Given the description of an element on the screen output the (x, y) to click on. 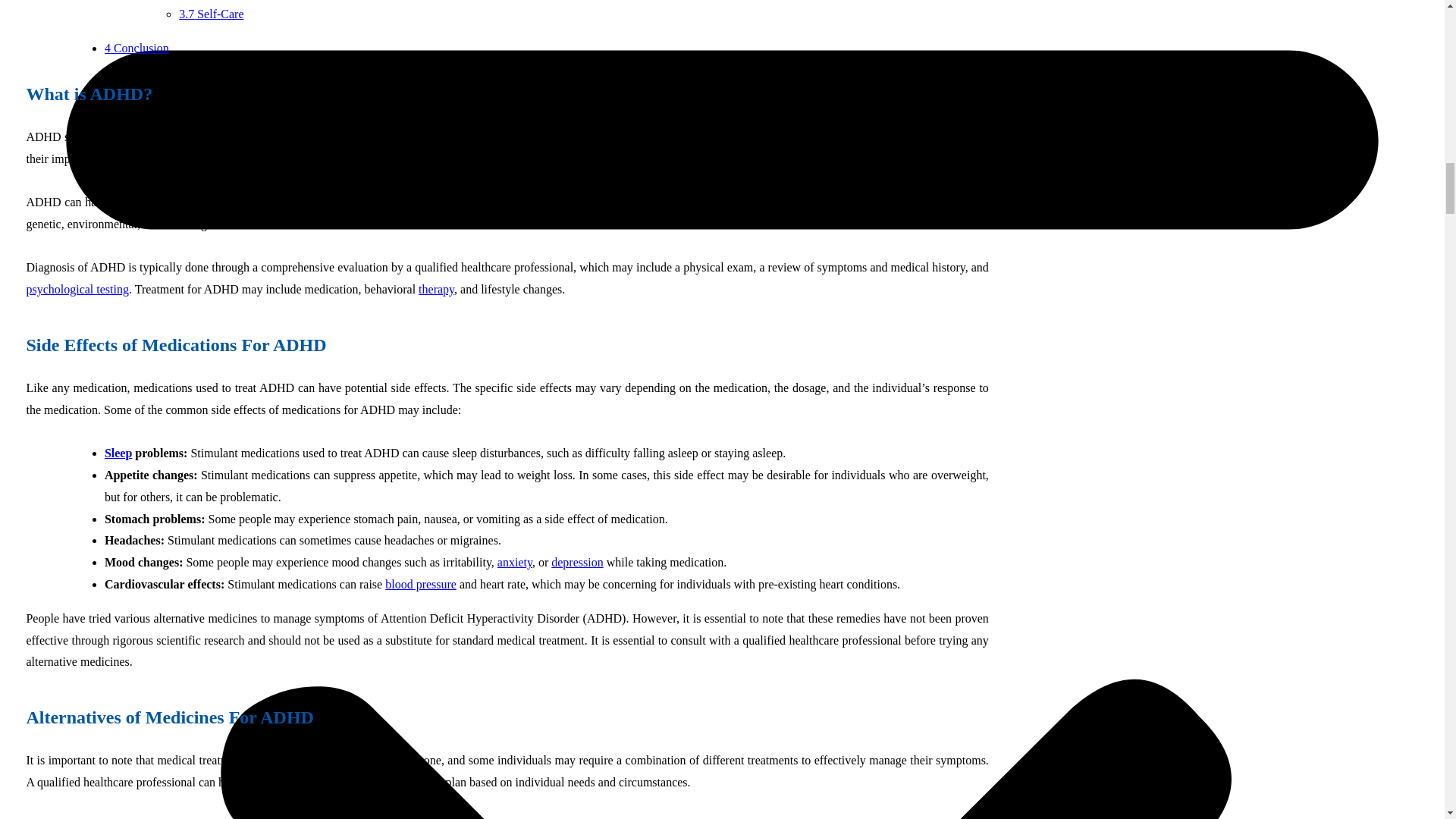
blood pressure (421, 584)
therapy (436, 288)
anxiety (514, 562)
depression (576, 562)
psychological testing (77, 288)
sleep (118, 452)
